Given the description of an element on the screen output the (x, y) to click on. 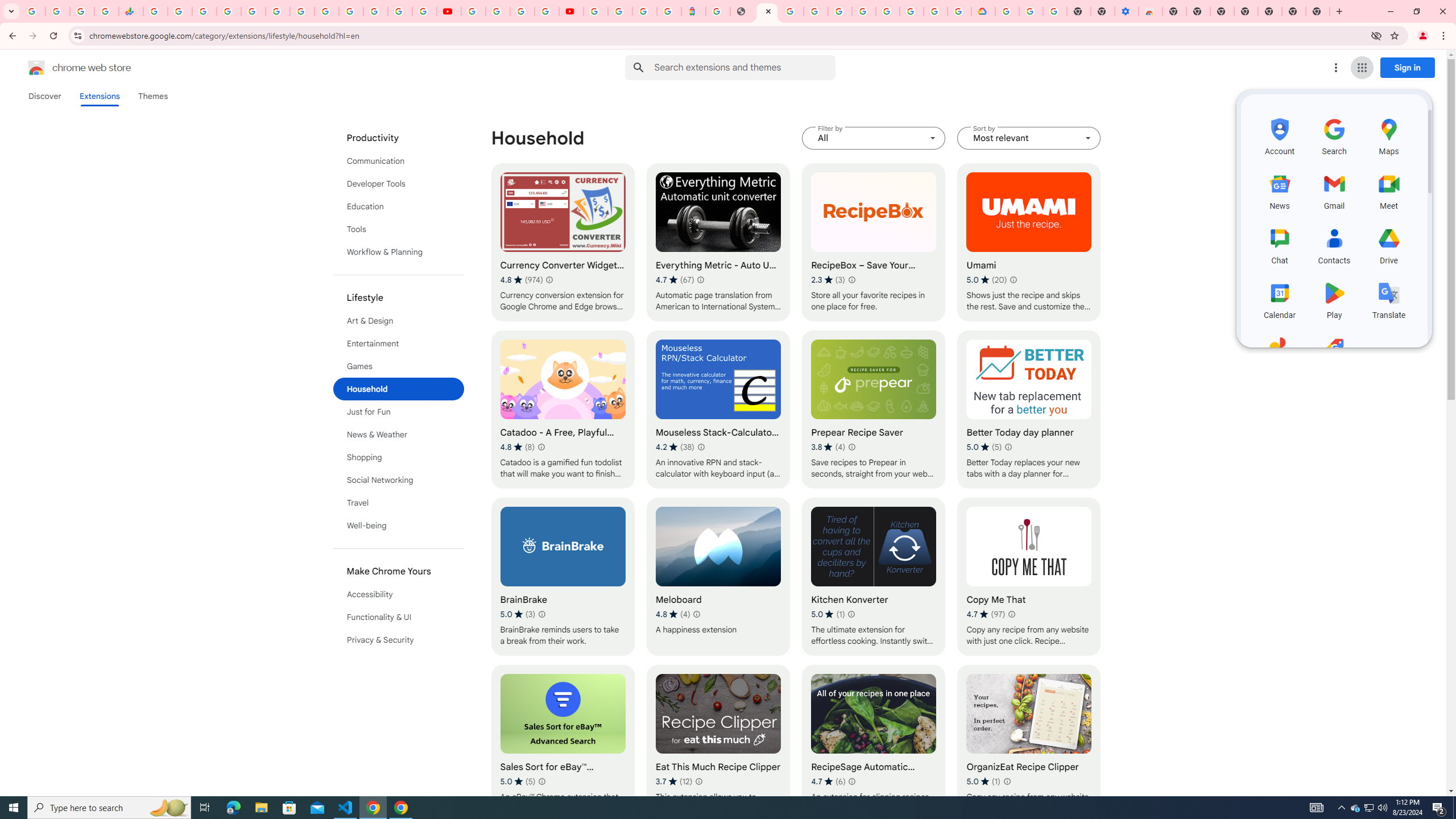
Average rating 5 out of 5 stars. 5 ratings. (517, 781)
Sign in - Google Accounts (839, 11)
Average rating 4.2 out of 5 stars. 38 ratings. (674, 446)
New Tab (1174, 11)
Learn more about results and reviews "Kitchen Konverter" (850, 613)
YouTube (472, 11)
